Given the description of an element on the screen output the (x, y) to click on. 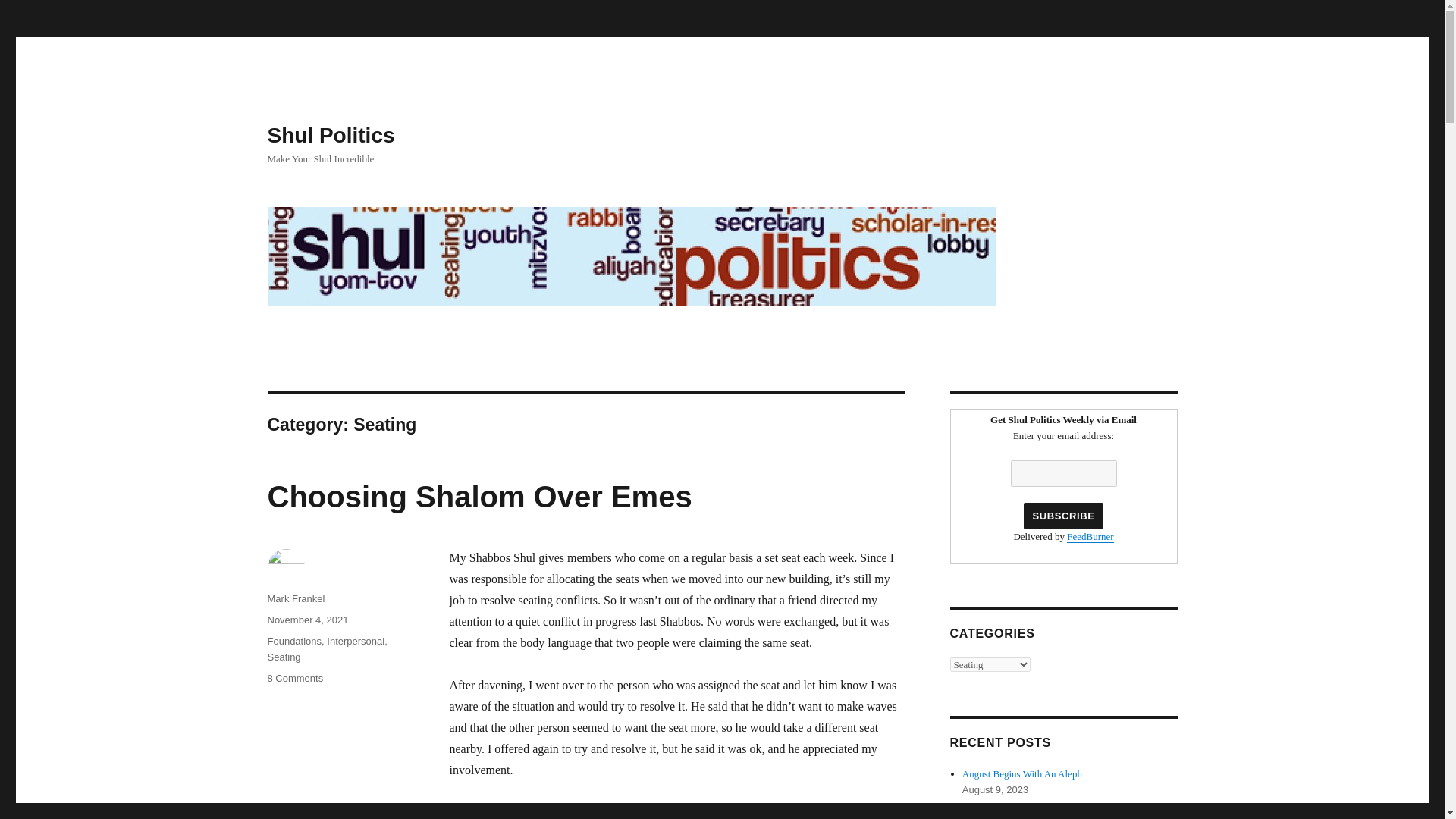
Mark Frankel (295, 598)
FeedBurner (1090, 536)
November 4, 2021 (306, 619)
Choosing Shalom Over Emes (478, 496)
Interpersonal (355, 641)
August Begins With An Aleph (1021, 773)
Shul Politics (294, 677)
Seating (330, 135)
Subscribe (282, 656)
